Given the description of an element on the screen output the (x, y) to click on. 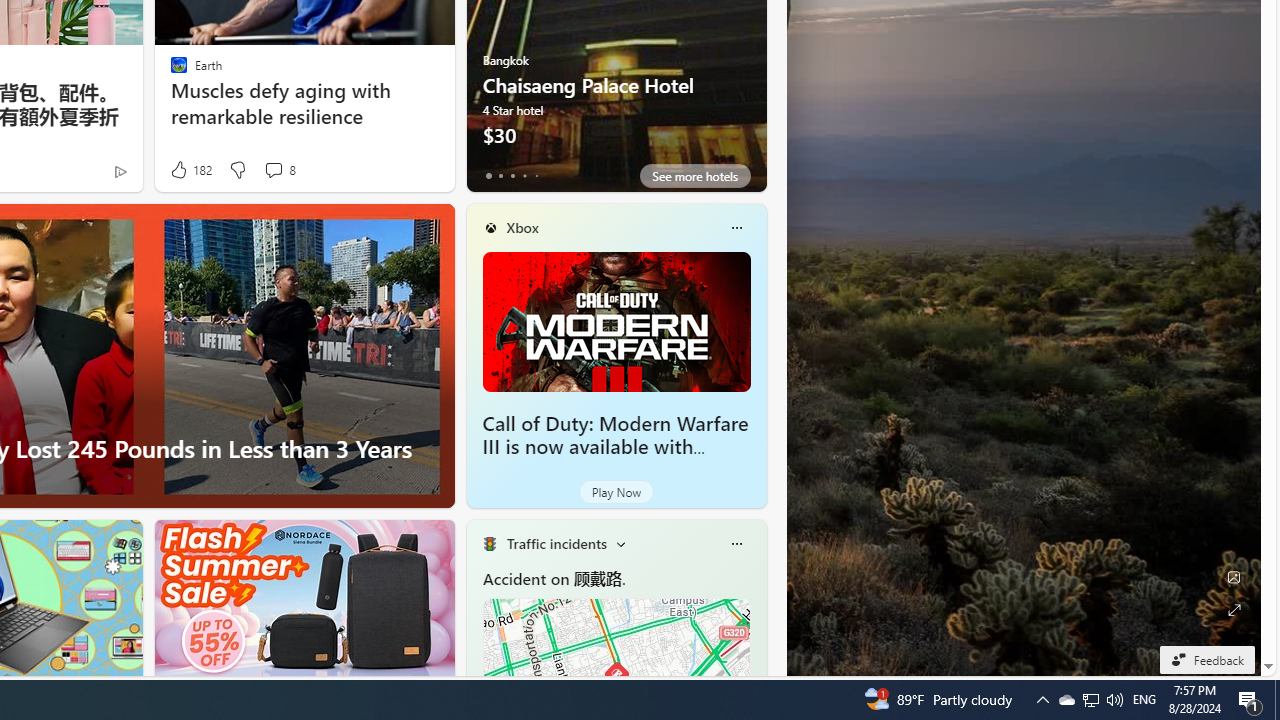
182 Like (190, 170)
tab-1 (500, 175)
Traffic incidents (555, 543)
View comments 8 Comment (279, 170)
View comments 8 Comment (273, 169)
Class: icon-img (736, 543)
